Given the description of an element on the screen output the (x, y) to click on. 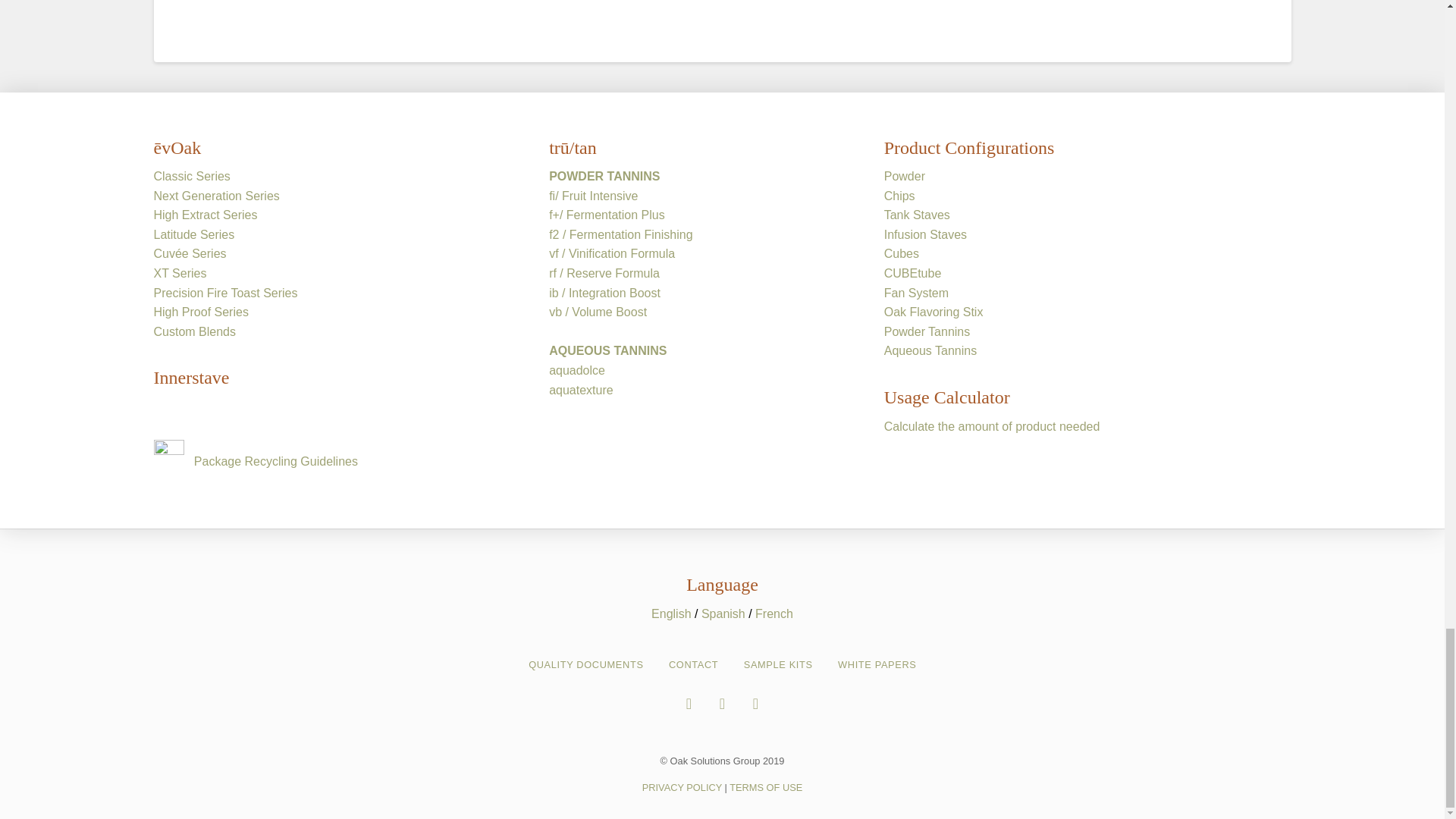
  Package Recycling Guidelines (272, 461)
Next Generation Series (215, 195)
Precision Fire Toast Series (224, 292)
High Extract Series (204, 214)
High Proof Series (199, 311)
XT Series (179, 273)
AQUEOUS TANNINS (607, 350)
Classic Series (191, 175)
Custom Blends (193, 331)
POWDER TANNINS (603, 175)
Innerstave (190, 377)
Latitude Series (193, 234)
